Given the description of an element on the screen output the (x, y) to click on. 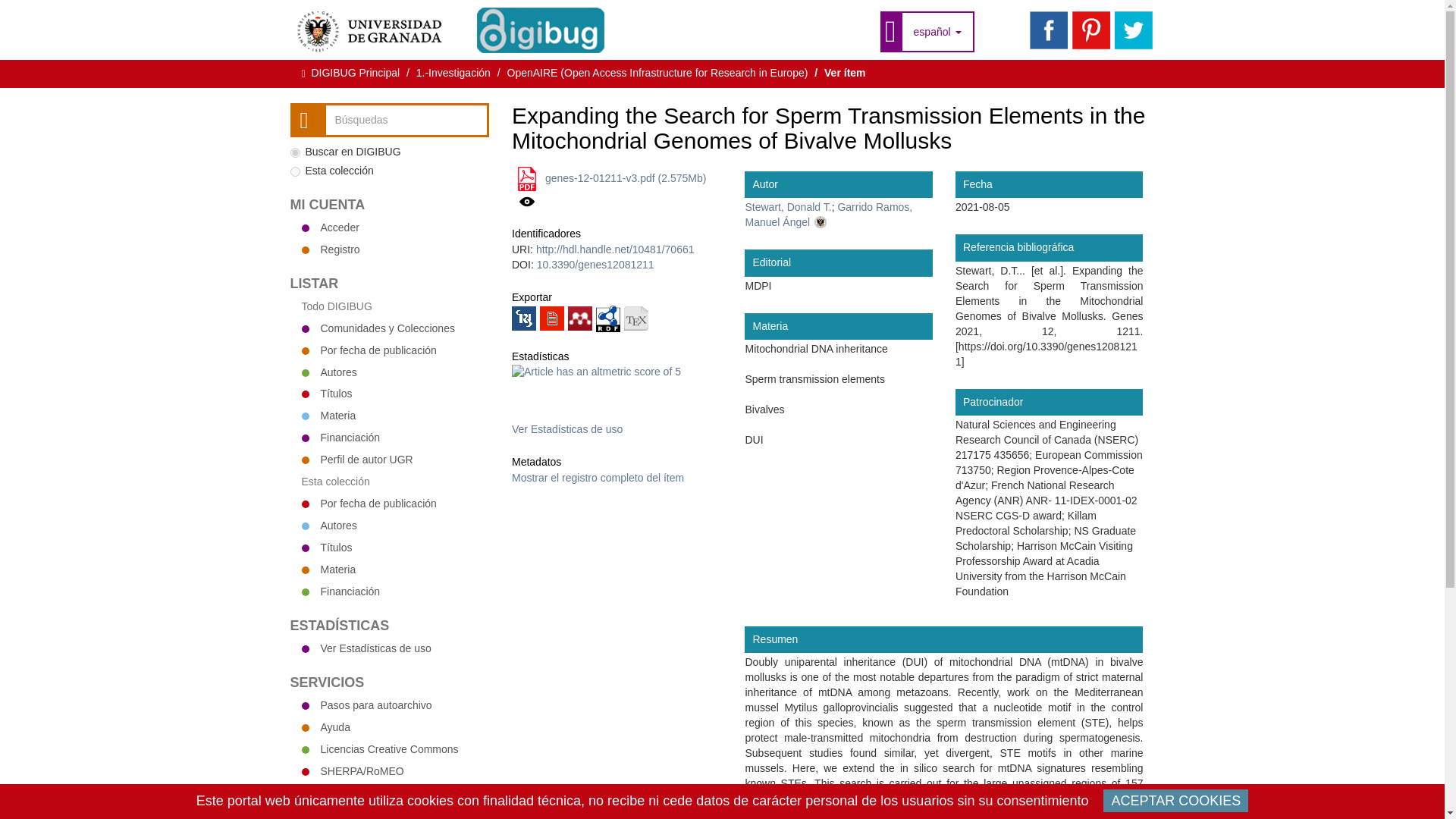
Refworks (552, 318)
Bibtex (635, 318)
Mendeley (579, 318)
RIS (523, 318)
Stewart, Donald T. (787, 206)
Pinterest (1090, 30)
Autoridad Universidad de Granada (828, 214)
Scopus (625, 413)
RDF (607, 317)
pdf (526, 178)
